Given the description of an element on the screen output the (x, y) to click on. 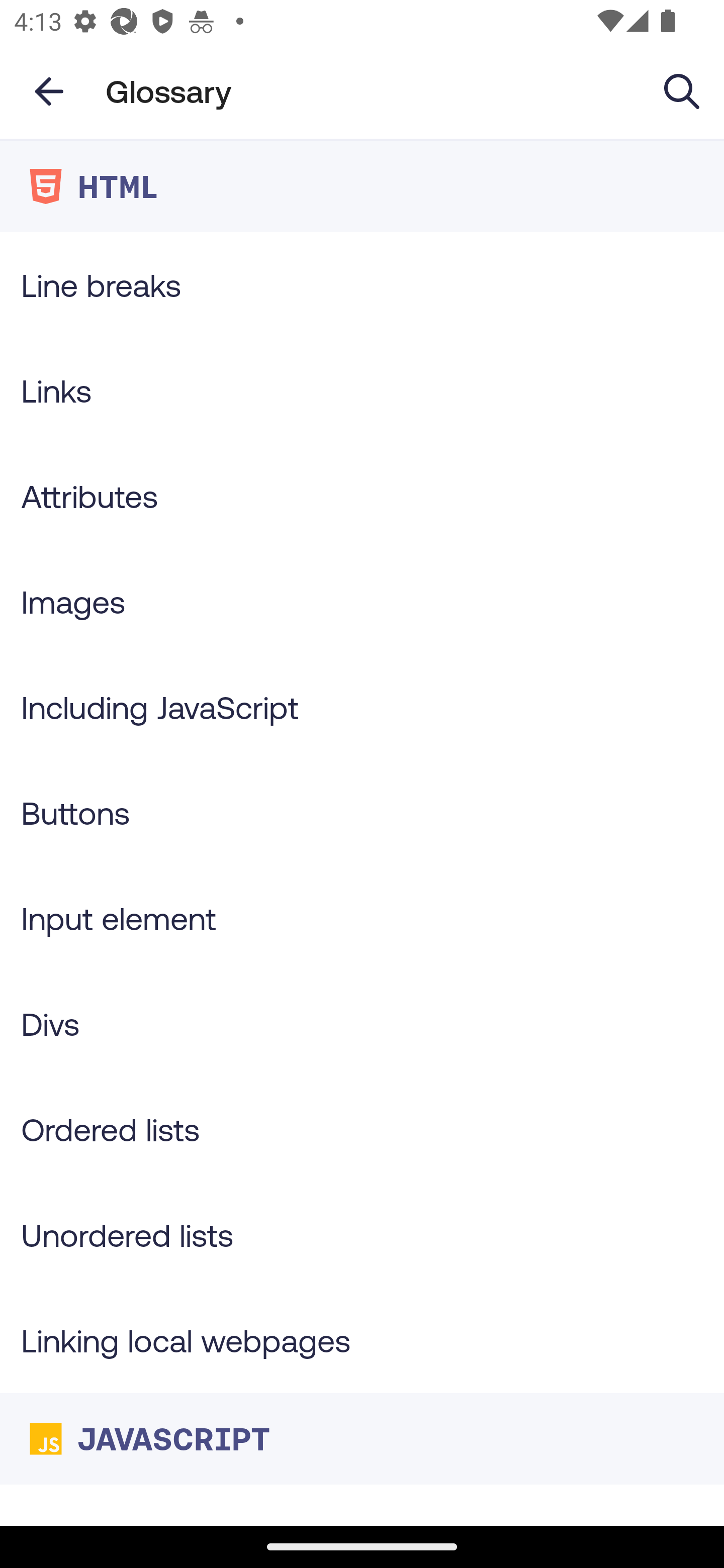
Navigate up (49, 91)
Search Glossary (681, 90)
HTML (362, 186)
Line breaks (362, 284)
Links (362, 390)
Attributes (362, 495)
Images (362, 600)
Including JavaScript (362, 706)
Buttons (362, 812)
Input element (362, 917)
Divs (362, 1023)
Ordered lists (362, 1129)
Unordered lists (362, 1234)
Linking local webpages (362, 1339)
JAVASCRIPT (362, 1438)
